Given the description of an element on the screen output the (x, y) to click on. 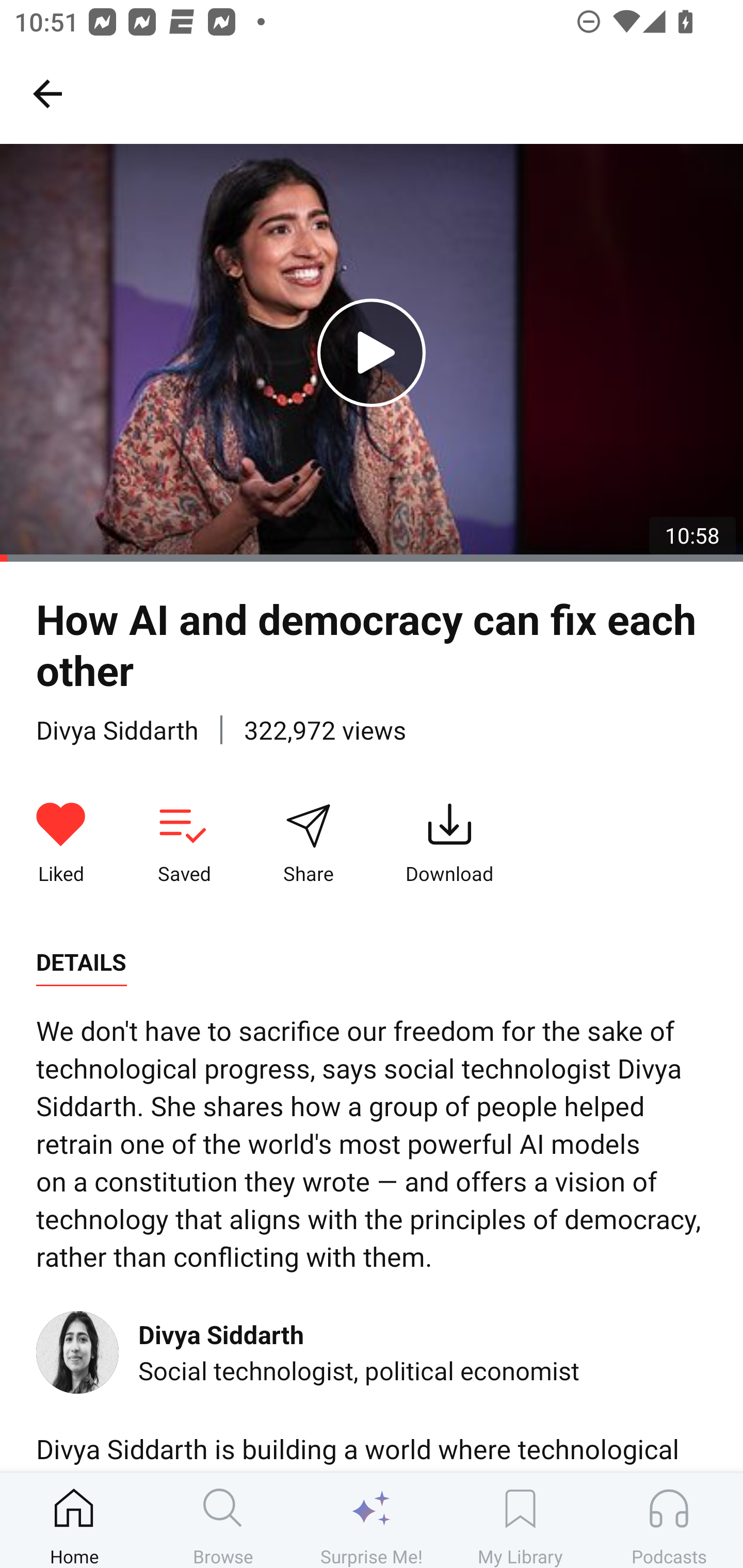
Home, back (47, 92)
Liked (60, 843)
Saved (183, 843)
Share (308, 843)
Download (449, 843)
DETAILS (80, 962)
Home (74, 1520)
Browse (222, 1520)
Surprise Me! (371, 1520)
My Library (519, 1520)
Podcasts (668, 1520)
